Given the description of an element on the screen output the (x, y) to click on. 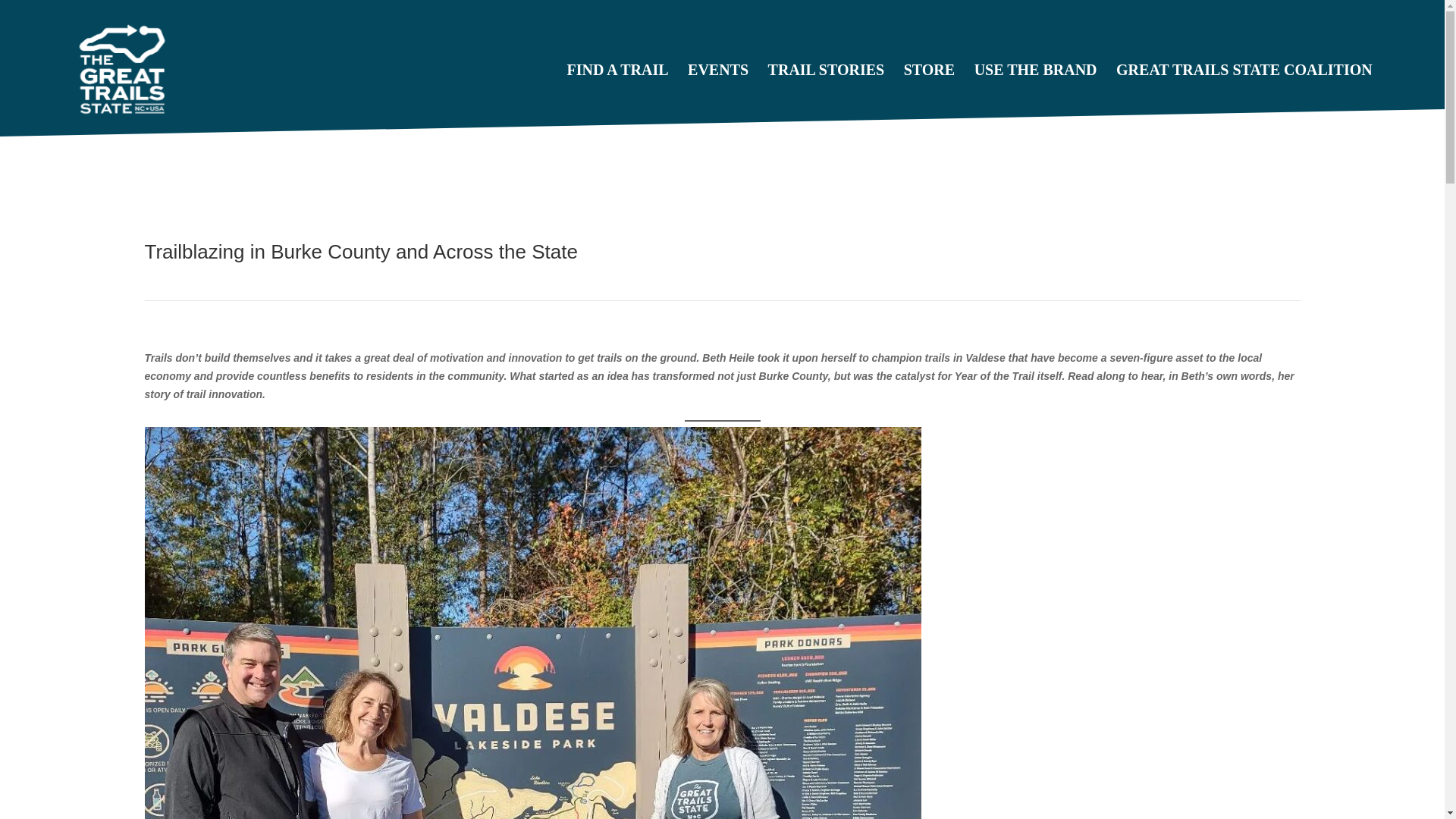
FIND A TRAIL (617, 101)
USE THE BRAND (1035, 101)
TRAIL STORIES (826, 101)
GREAT TRAILS STATE COALITION (1244, 101)
